Given the description of an element on the screen output the (x, y) to click on. 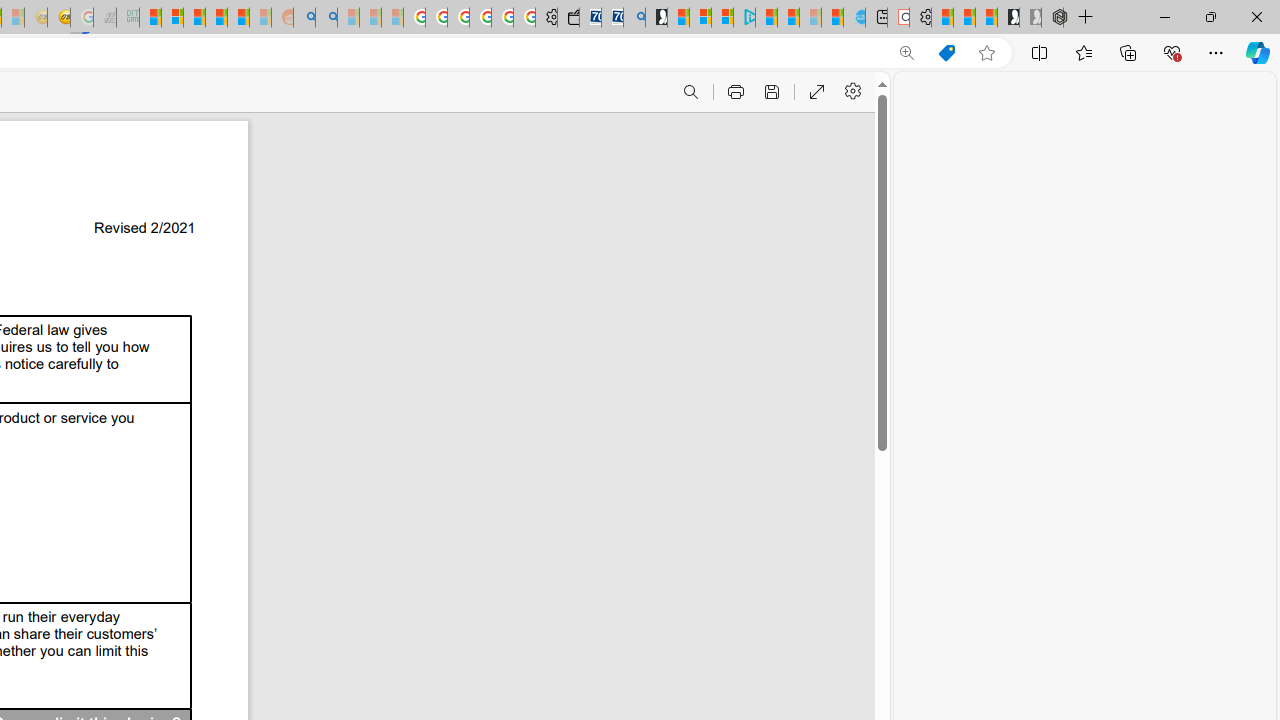
Bing Real Estate - Home sales and rental listings (634, 17)
Wallet (568, 17)
